Given the description of an element on the screen output the (x, y) to click on. 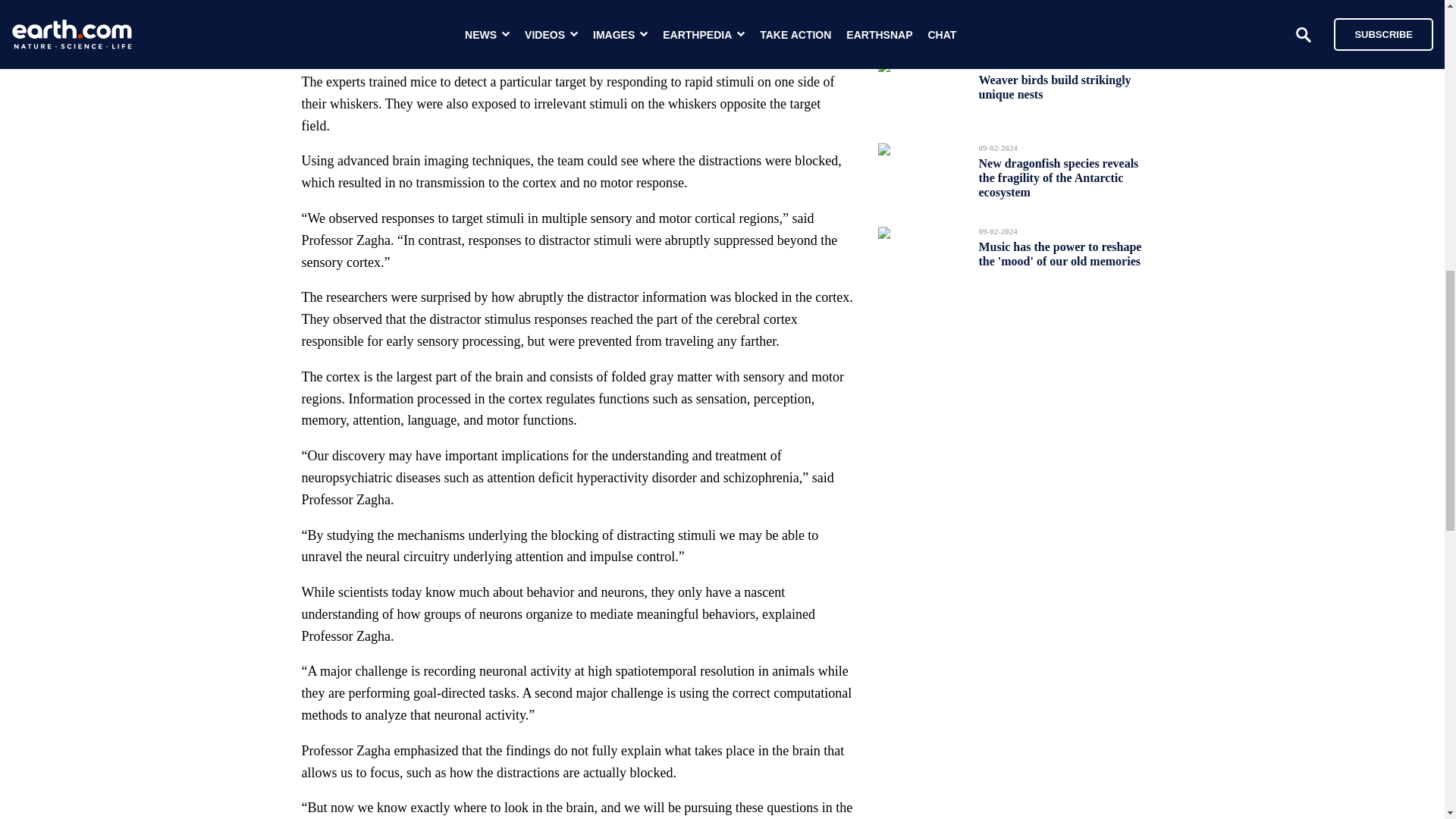
Weaver birds build strikingly unique nests (1054, 87)
